Given the description of an element on the screen output the (x, y) to click on. 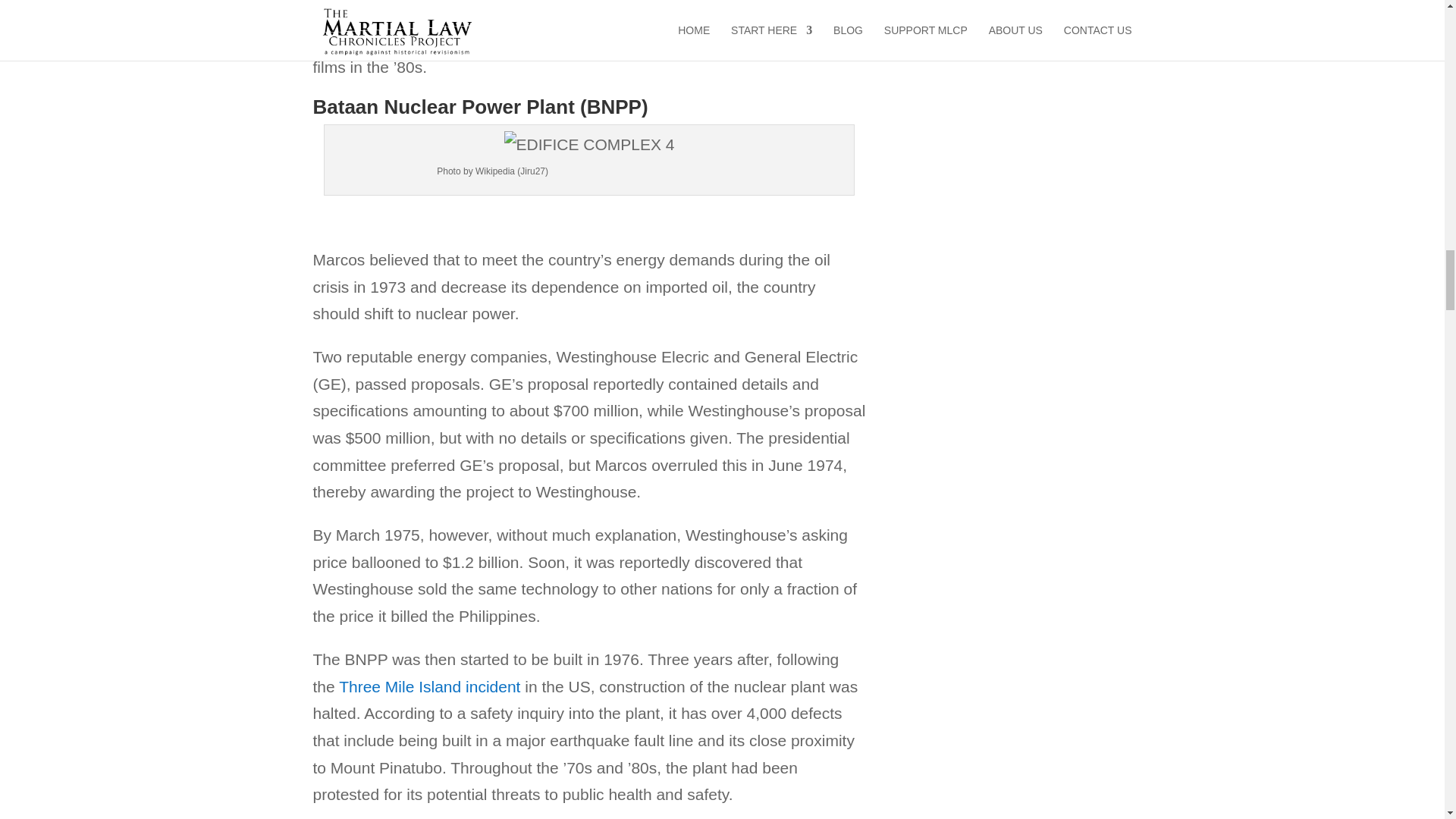
Three Mile Island incident (429, 686)
EDIFICE COMPLEX 4 (589, 144)
